Given the description of an element on the screen output the (x, y) to click on. 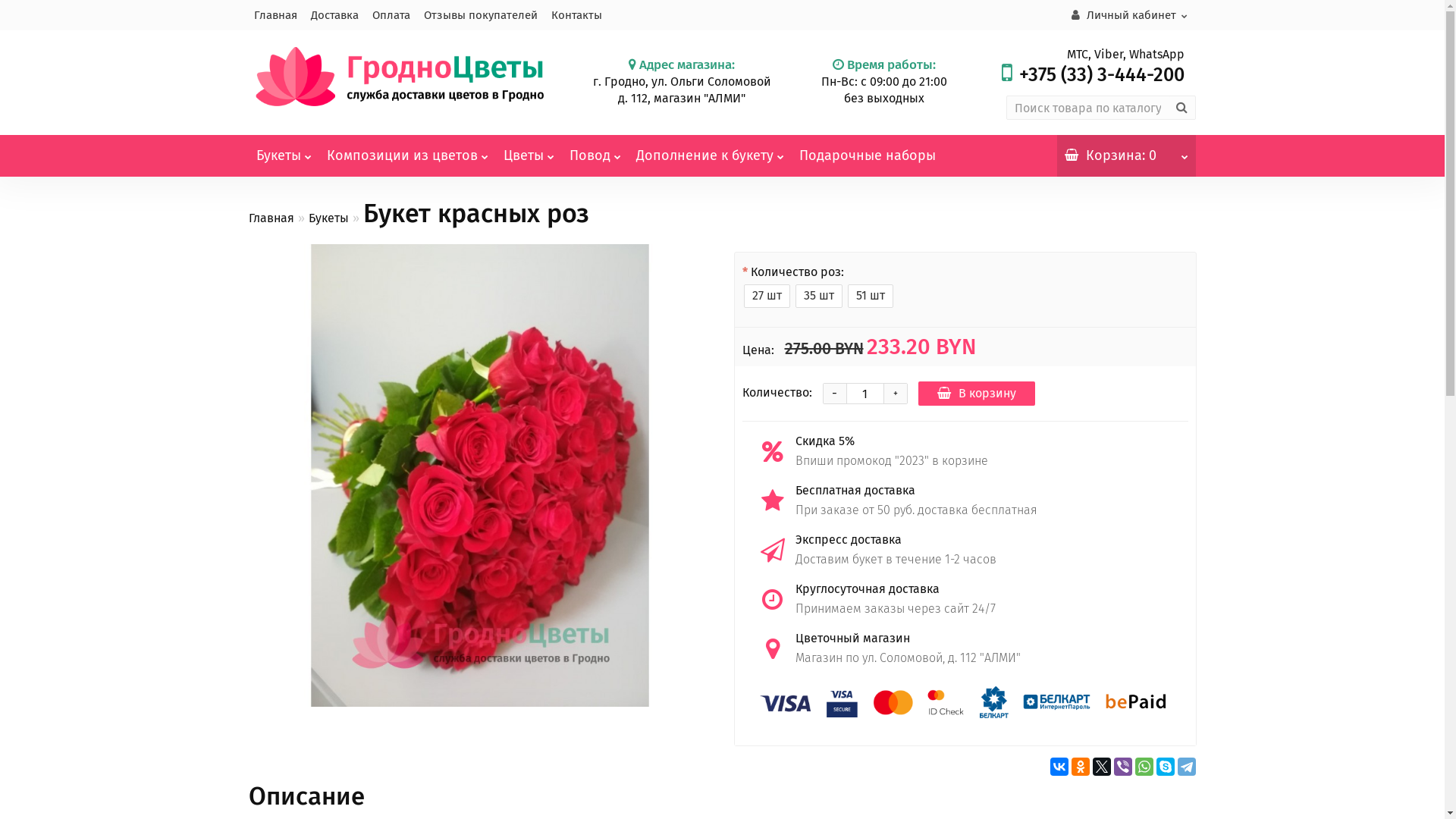
+375 (33) 3-444-200 Element type: text (1101, 74)
+ Element type: text (895, 393)
Viber Element type: hover (1122, 766)
Grodno-cvety.by Element type: hover (398, 76)
Skype Element type: hover (1164, 766)
- Element type: text (834, 393)
Telegram Element type: hover (1185, 766)
WhatsApp Element type: hover (1143, 766)
Twitter Element type: hover (1101, 766)
